Given the description of an element on the screen output the (x, y) to click on. 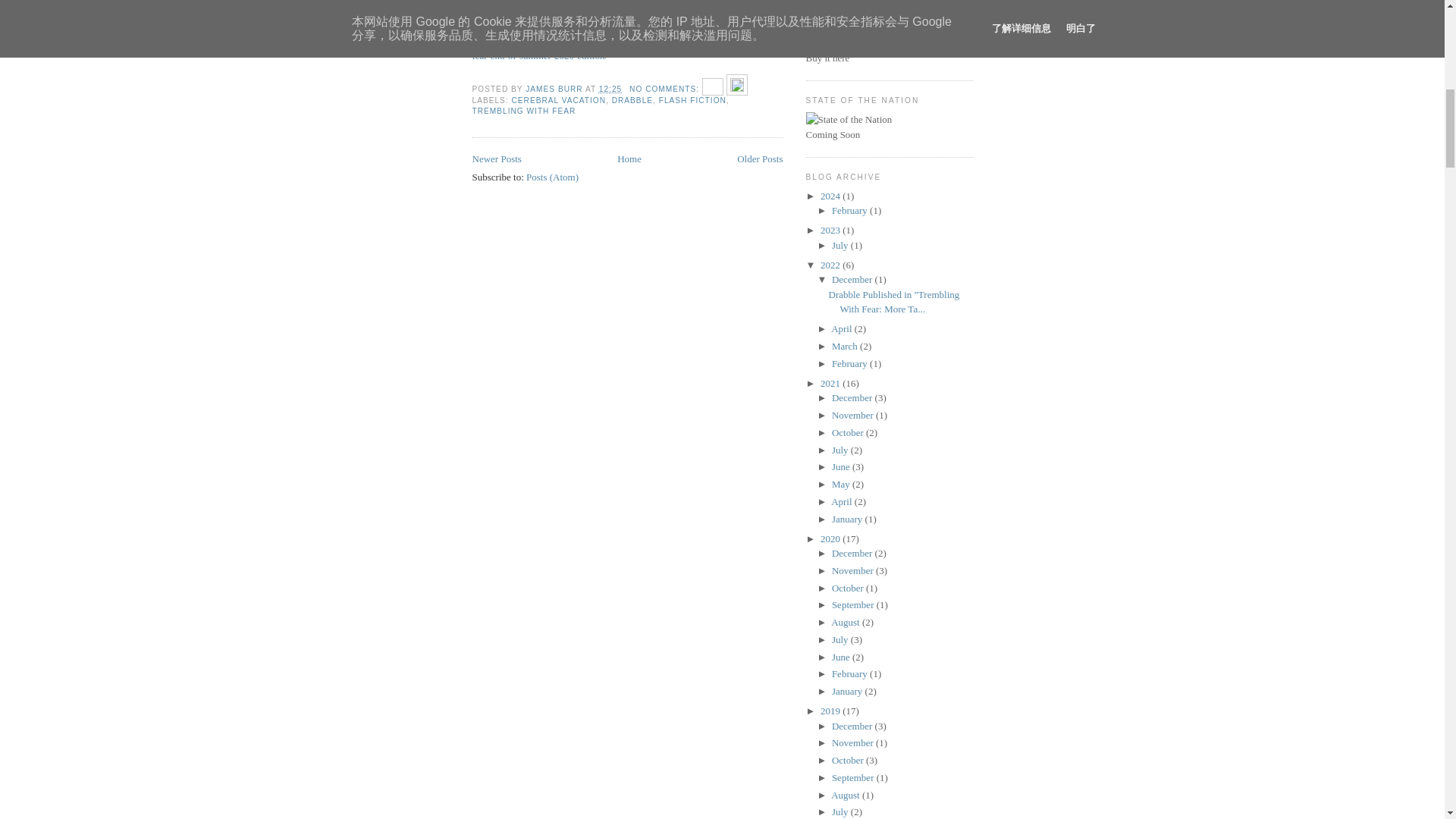
Newer Posts (496, 158)
Home (629, 158)
DRABBLE (631, 100)
FLASH FICTION (692, 100)
2024 (832, 195)
Email Post (713, 89)
TREMBLING WITH FEAR (523, 111)
February (850, 210)
NO COMMENTS: (664, 89)
JAMES BURR (555, 89)
CEREBRAL VACATION (559, 100)
Older Posts (759, 158)
permanent link (609, 89)
Edit Post (737, 89)
12:25 (609, 89)
